Given the description of an element on the screen output the (x, y) to click on. 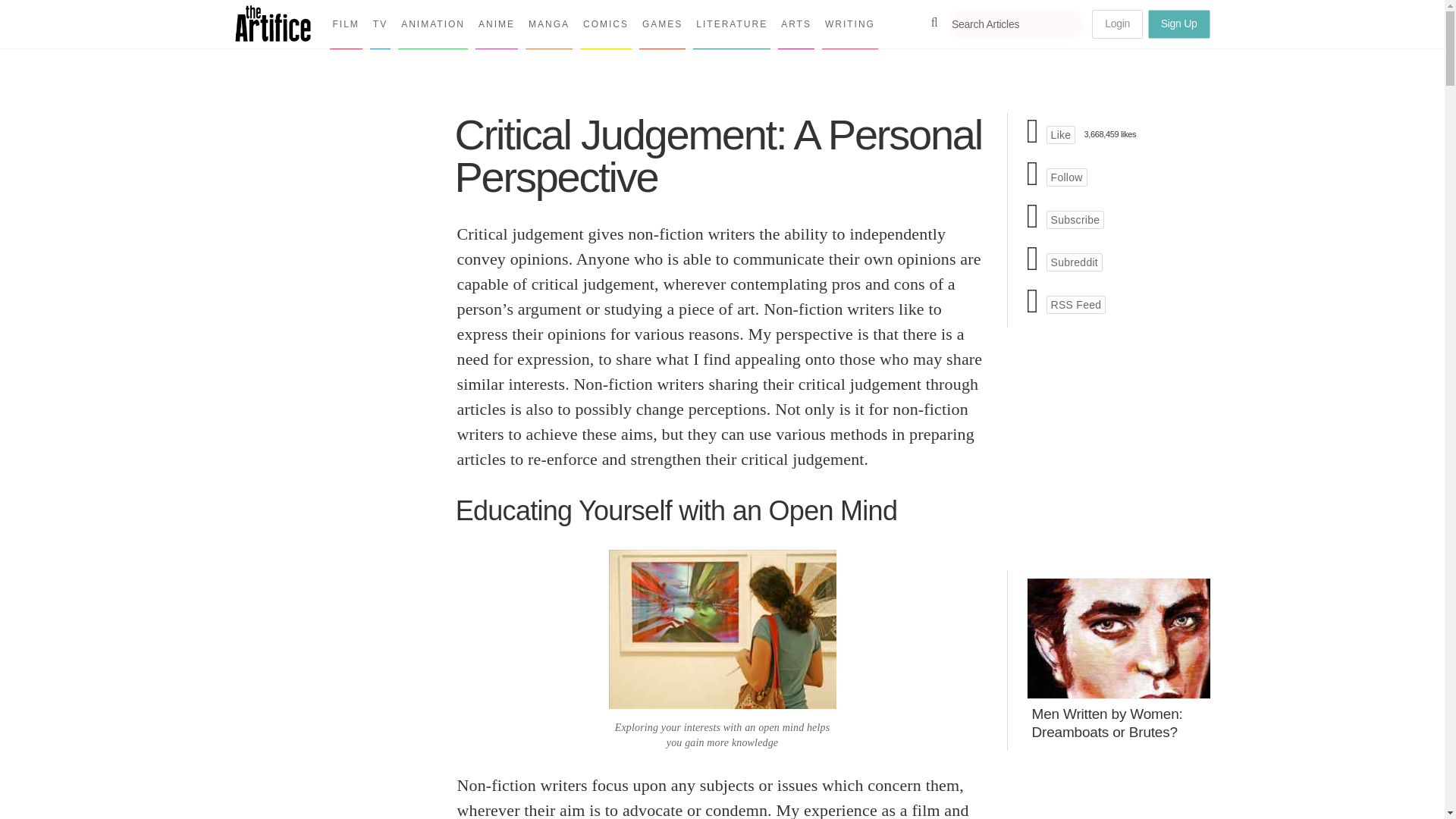
LITERATURE (731, 24)
Sign Up (1178, 23)
ANIMATION (432, 24)
WRITING (849, 24)
GAMES (662, 24)
Login (1117, 23)
COMICS (605, 24)
The Artifice (272, 37)
MANGA (548, 24)
